Given the description of an element on the screen output the (x, y) to click on. 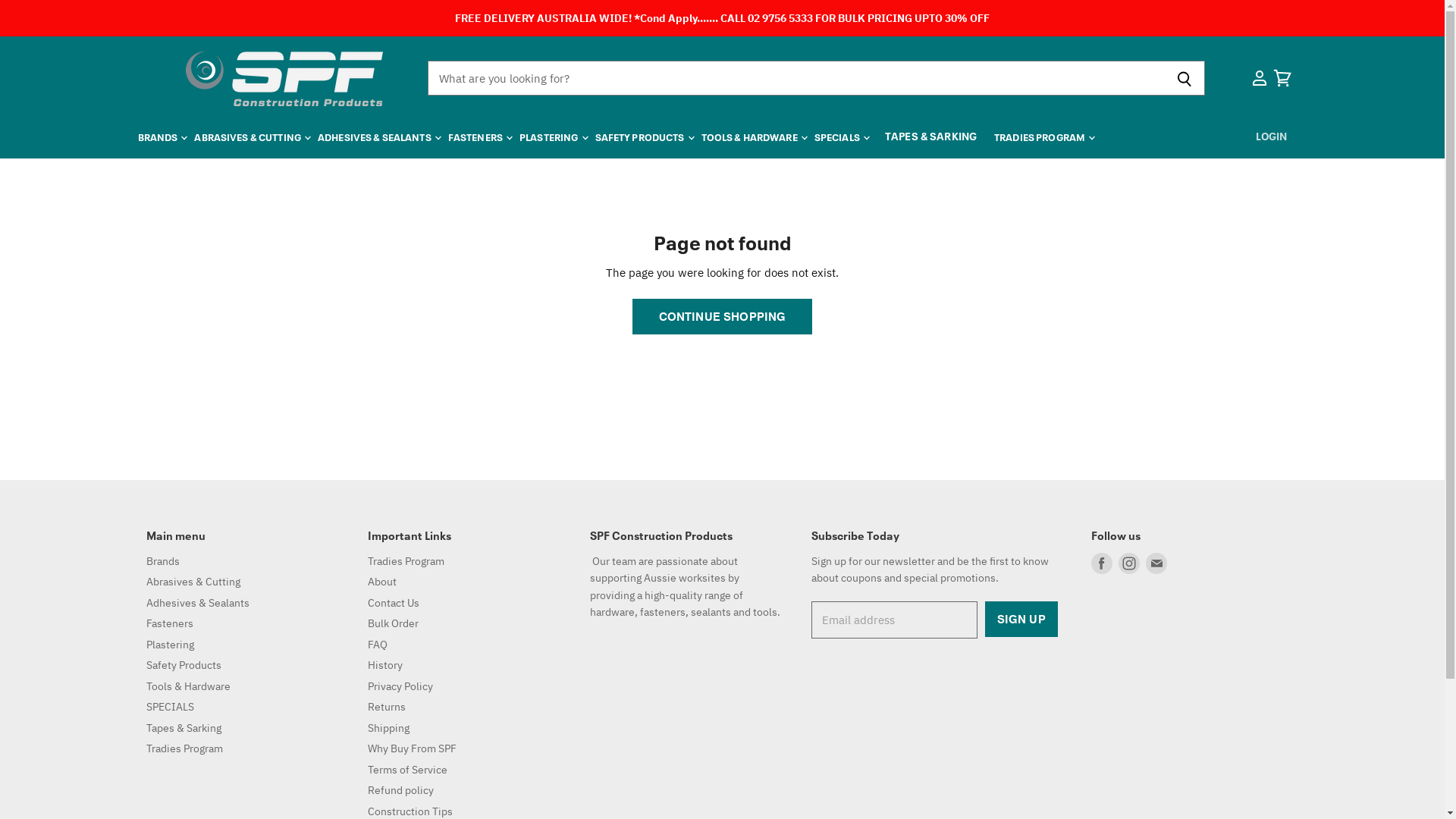
CONTINUE SHOPPING Element type: text (722, 316)
View account Element type: text (1258, 78)
TAPES & SARKING Element type: text (930, 134)
Refund policy Element type: text (400, 790)
Tradies Program Element type: text (183, 748)
About Element type: text (381, 581)
History Element type: text (384, 664)
Tapes & Sarking Element type: text (182, 727)
ADHESIVES & SEALANTS Element type: text (378, 135)
SAFETY PRODUCTS Element type: text (643, 135)
Contact Us Element type: text (393, 602)
Tools & Hardware Element type: text (187, 686)
Abrasives & Cutting Element type: text (192, 581)
TRADIES PROGRAM Element type: text (1043, 135)
PLASTERING Element type: text (552, 135)
View cart Element type: text (1281, 78)
Fasteners Element type: text (168, 623)
SIGN UP Element type: text (1021, 619)
Find us on Instagram Element type: text (1128, 563)
Why Buy From SPF Element type: text (411, 748)
LOGIN Element type: text (1271, 134)
Bulk Order Element type: text (392, 623)
FASTENERS Element type: text (479, 135)
Find us on E-mail Element type: text (1156, 563)
TOOLS & HARDWARE Element type: text (753, 135)
SPECIALS Element type: text (169, 706)
Find us on Facebook Element type: text (1101, 563)
BRANDS Element type: text (161, 135)
Adhesives & Sealants Element type: text (196, 602)
Brands Element type: text (161, 560)
FAQ Element type: text (377, 644)
Plastering Element type: text (169, 644)
Terms of Service Element type: text (407, 769)
Privacy Policy Element type: text (400, 686)
Safety Products Element type: text (182, 664)
Shipping Element type: text (388, 727)
Tradies Program Element type: text (405, 560)
Returns Element type: text (386, 706)
ABRASIVES & CUTTING Element type: text (251, 135)
SPECIALS Element type: text (840, 135)
Construction Tips Element type: text (409, 811)
